Given the description of an element on the screen output the (x, y) to click on. 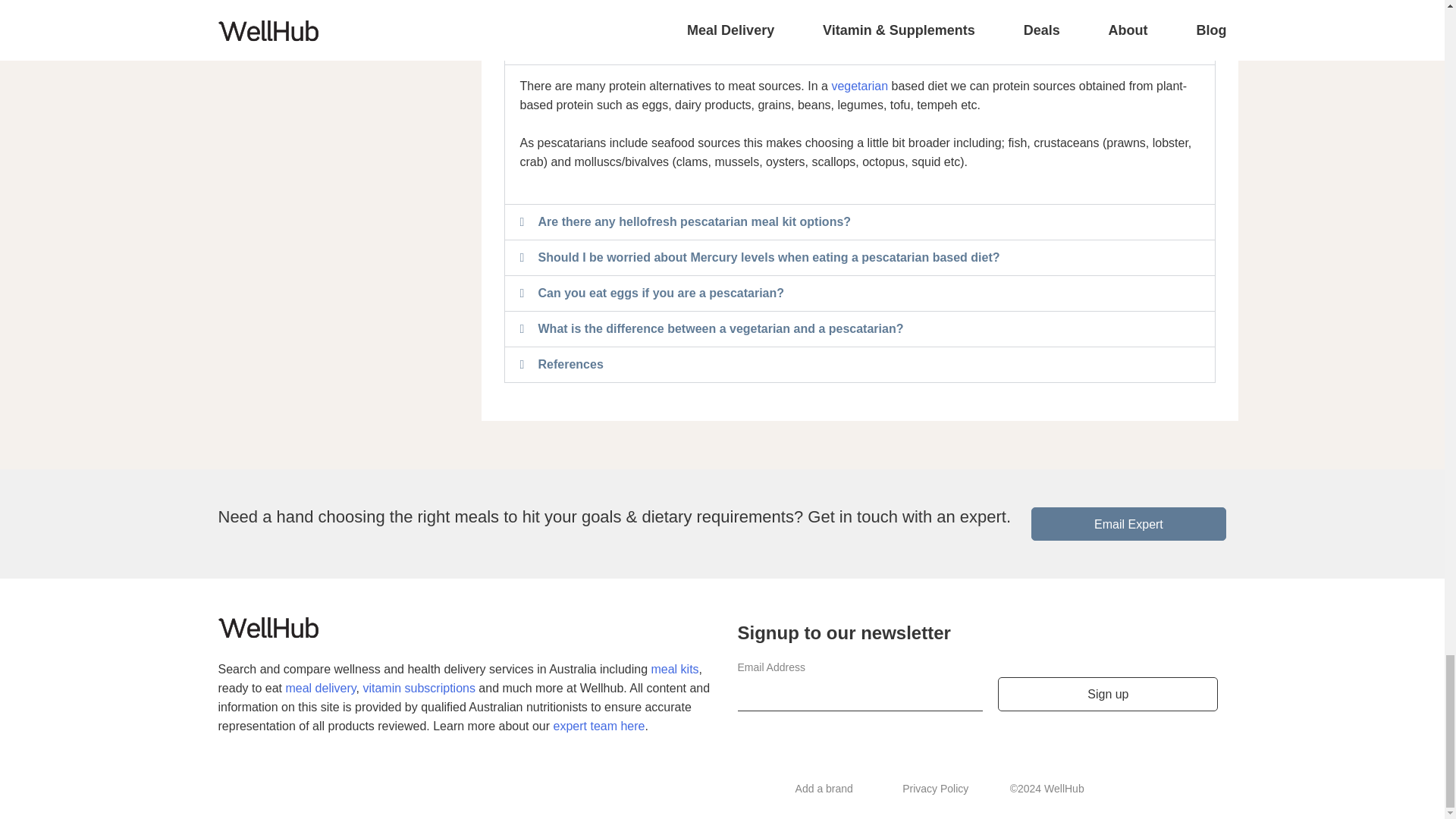
Sign up (1107, 694)
